Given the description of an element on the screen output the (x, y) to click on. 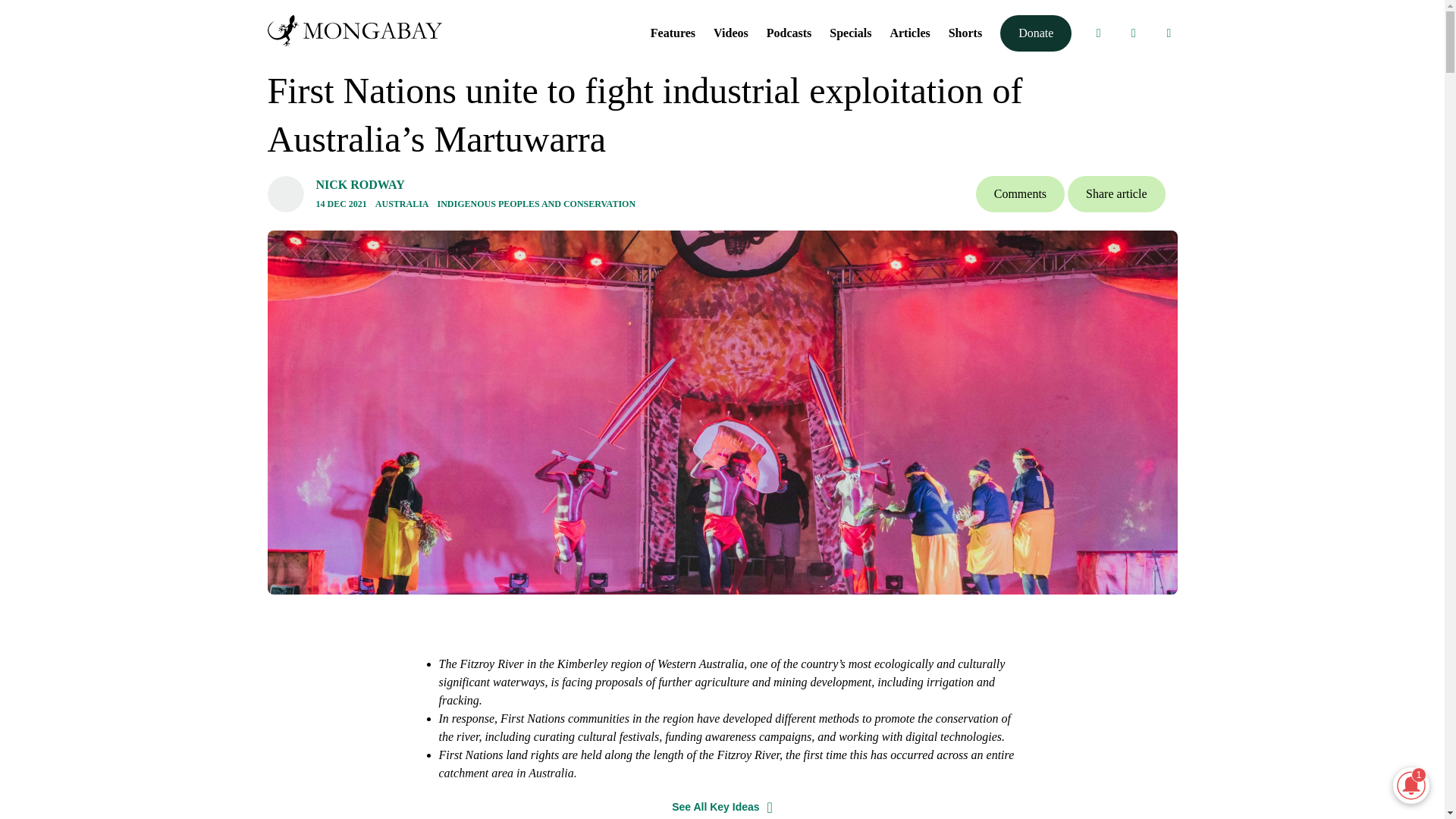
Podcasts (789, 32)
Donate (1035, 33)
Specials (849, 32)
Features (672, 32)
Shorts (965, 32)
Videos (730, 32)
Articles (909, 32)
